Given the description of an element on the screen output the (x, y) to click on. 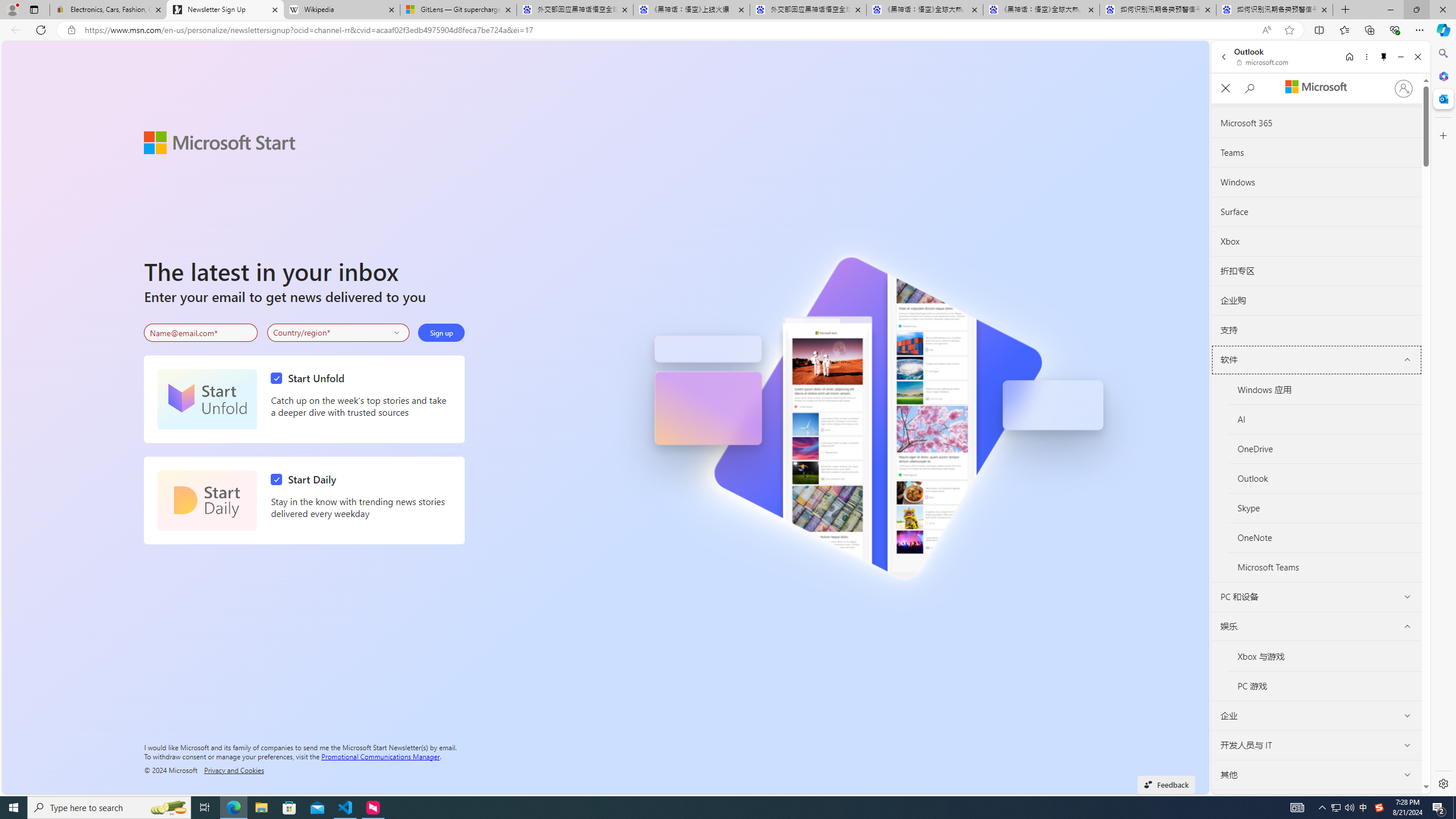
Skype (1324, 507)
OneDrive (1324, 448)
Surface (1316, 211)
